Given the description of an element on the screen output the (x, y) to click on. 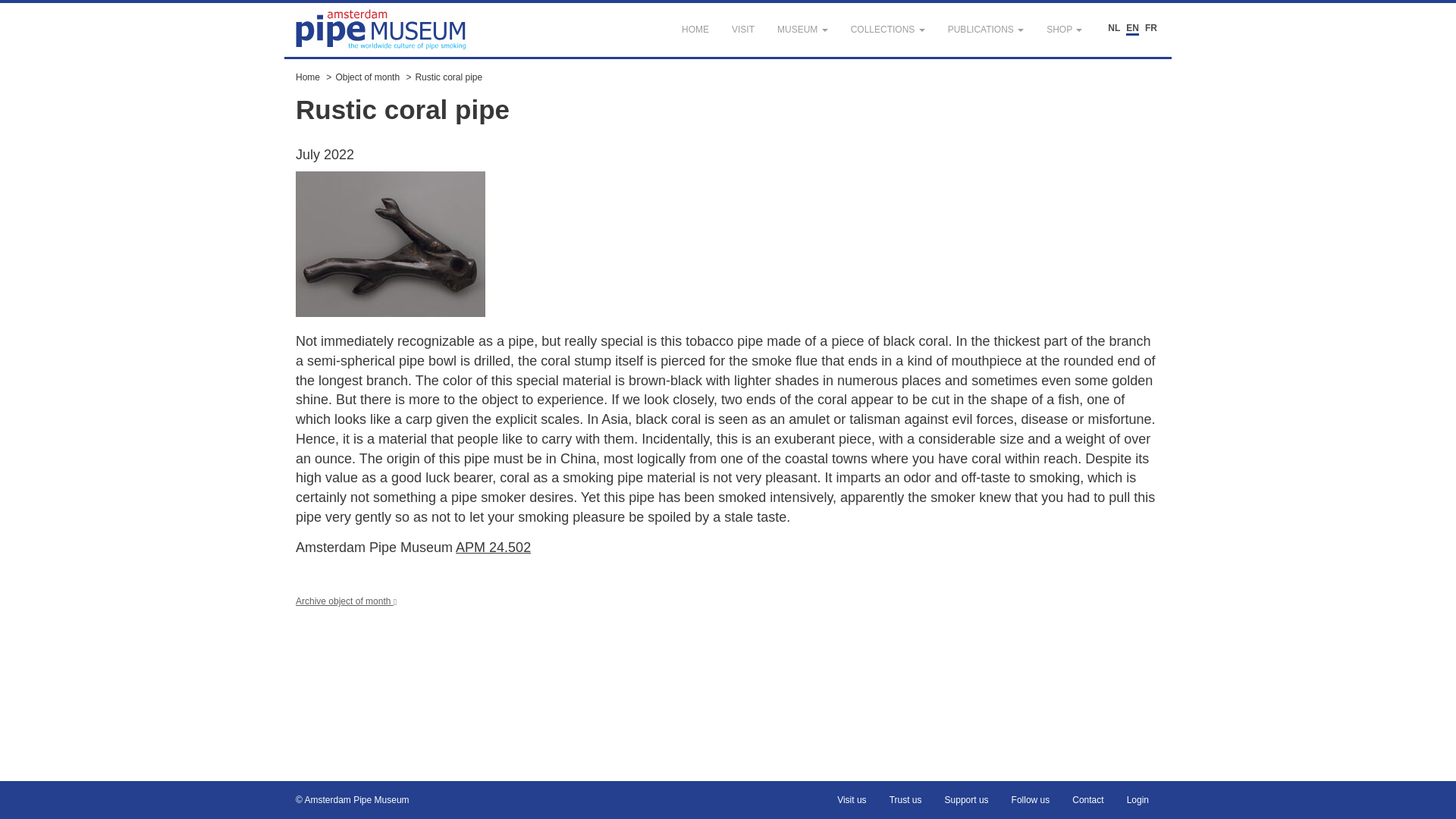
EN (1131, 29)
Home (307, 77)
HOME (694, 29)
NL (1113, 29)
Object of month (366, 77)
APM 24.502 (493, 547)
FR (1150, 29)
COLLECTIONS (888, 29)
FR (1150, 29)
SHOP (1064, 29)
